Given the description of an element on the screen output the (x, y) to click on. 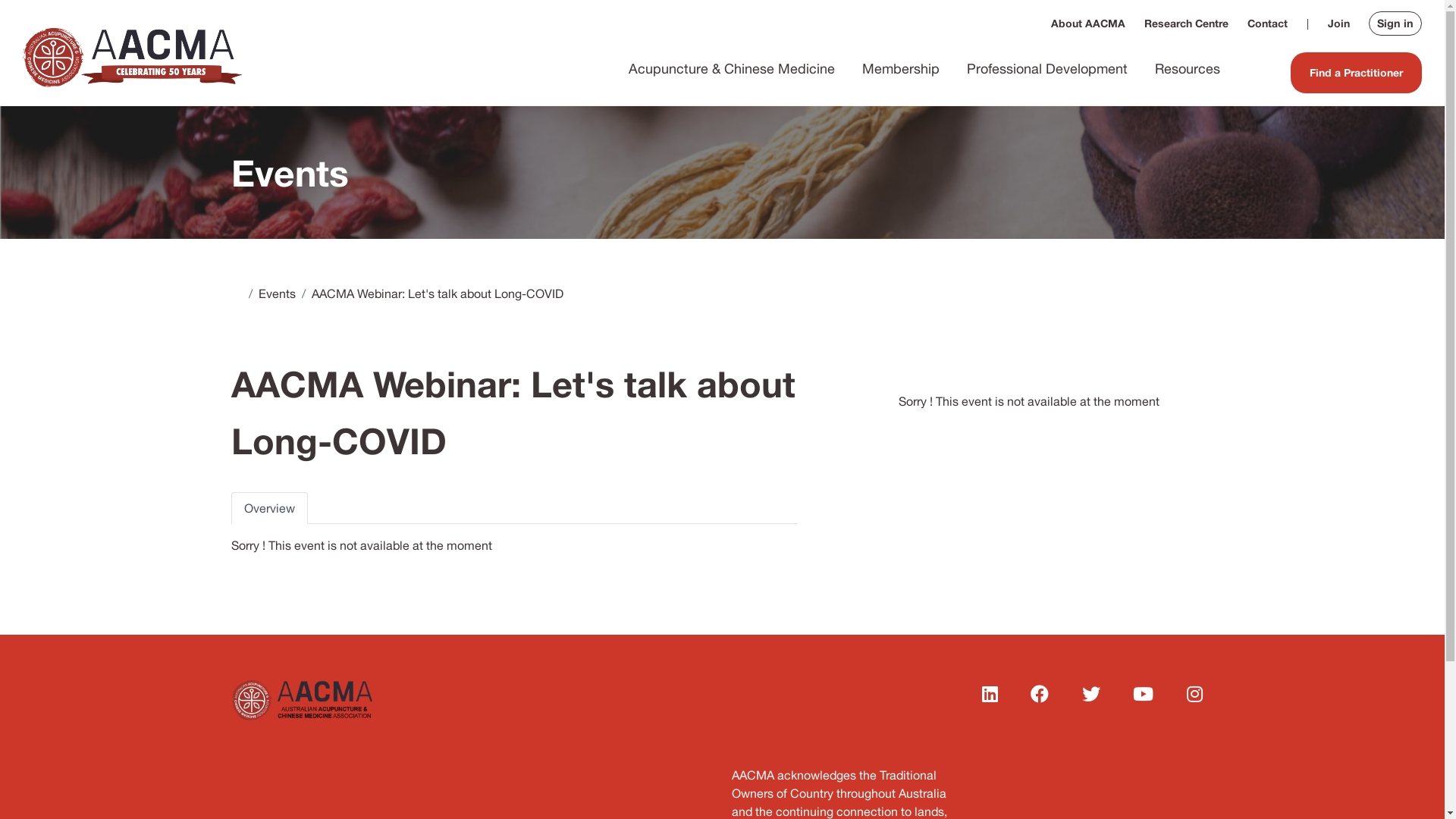
Research Centre Element type: text (1186, 23)
Find a Practitioner Element type: text (1355, 72)
About AACMA Element type: text (1088, 23)
Events Element type: text (275, 293)
Join Element type: text (1338, 23)
Overview Element type: text (268, 508)
Contact Element type: text (1267, 23)
Resources Element type: text (1187, 68)
Acupuncture & Chinese Medicine Element type: text (731, 68)
Professional Development Element type: text (1046, 68)
Sign in Element type: text (1394, 23)
Membership Element type: text (900, 68)
